Given the description of an element on the screen output the (x, y) to click on. 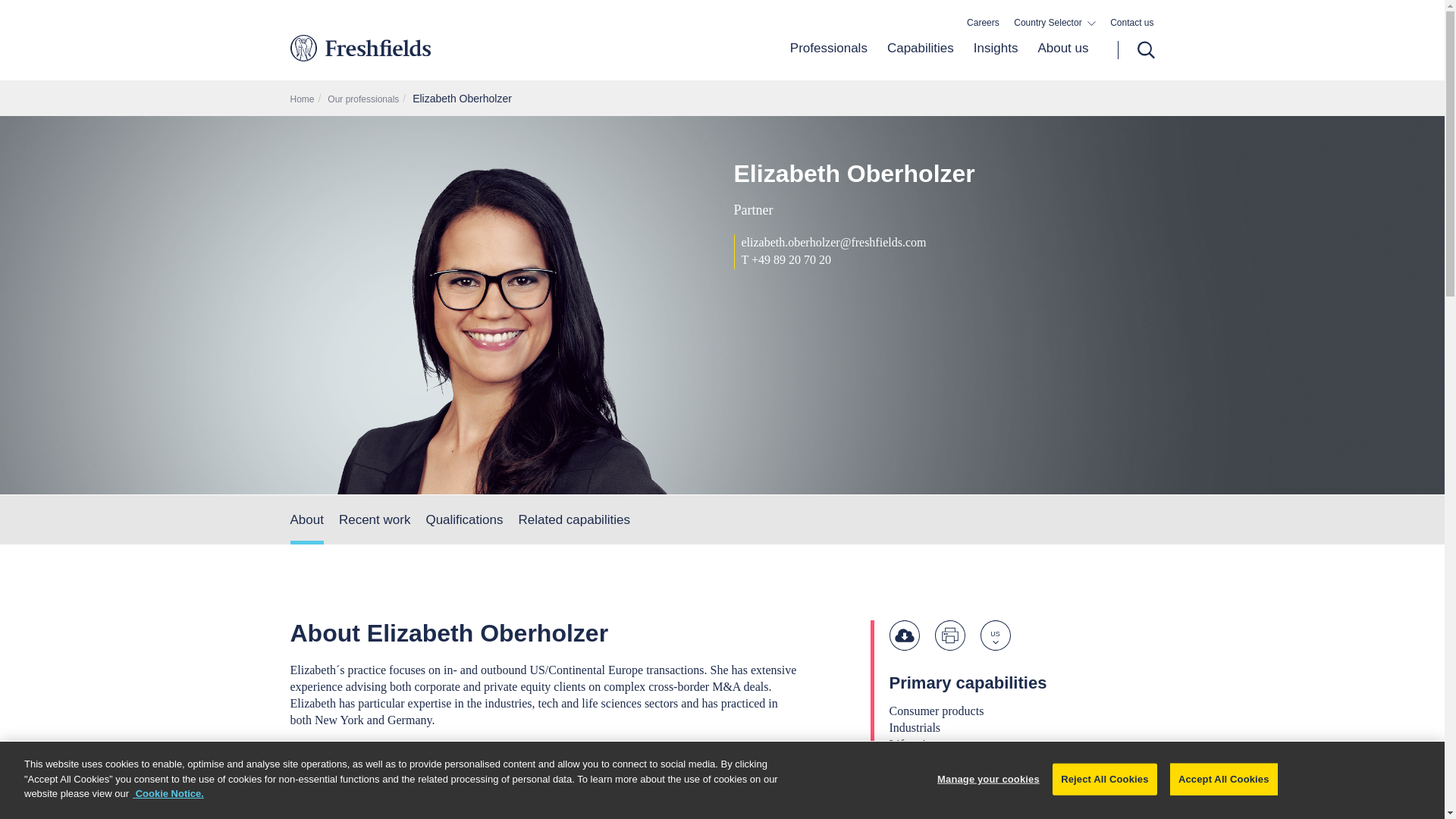
Professionals (828, 59)
Freshfields Bruckhaus Deringer (423, 46)
Careers (982, 22)
Capabilities (920, 59)
Careers (982, 22)
Contact us (1131, 22)
Country Selector (1053, 22)
Insights (995, 59)
About us (1057, 59)
Search (1136, 49)
